Given the description of an element on the screen output the (x, y) to click on. 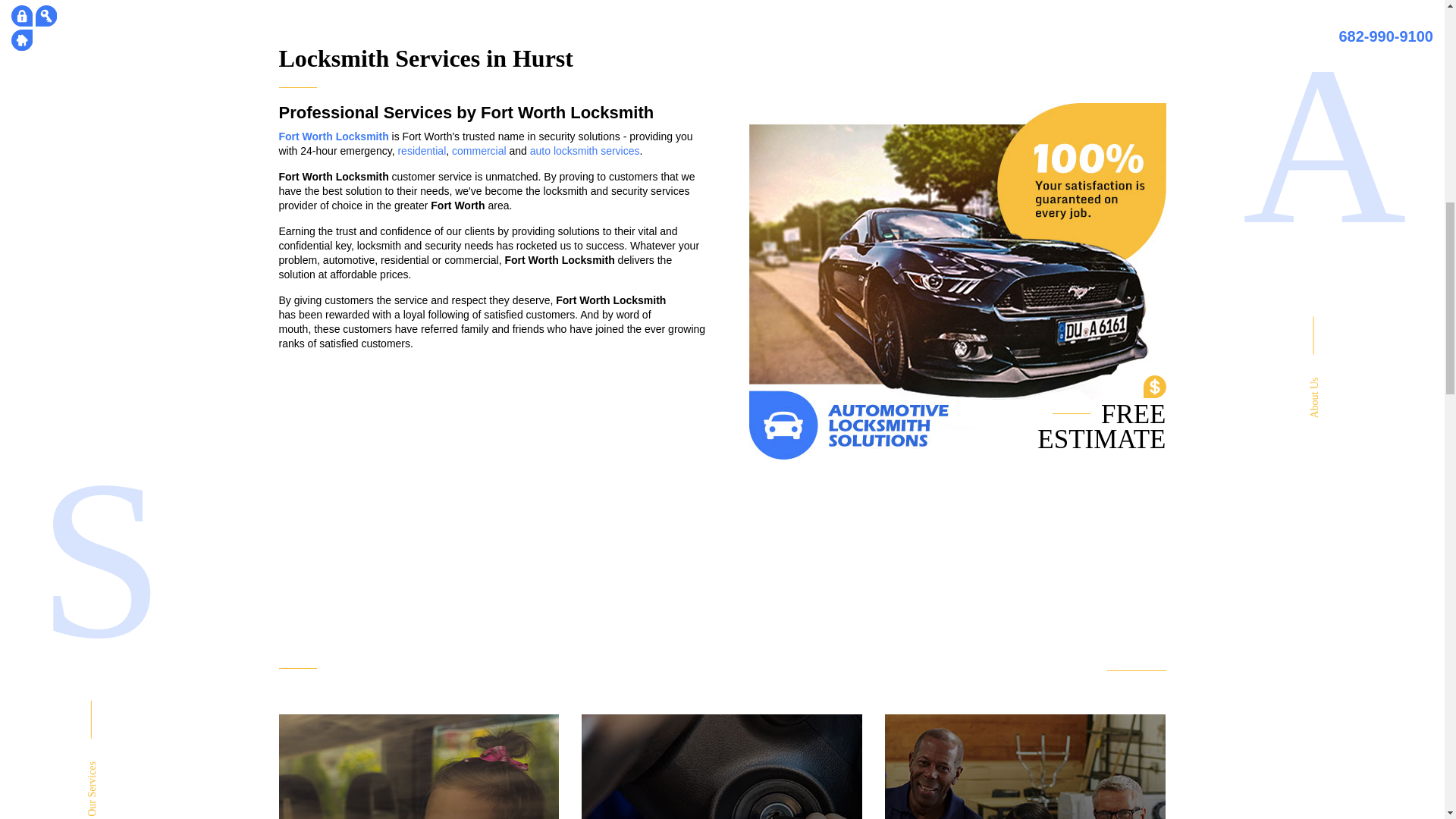
auto locksmith services (584, 150)
FREE ESTIMATE (1123, 659)
Fort Worth Locksmith (333, 136)
Automotive (720, 766)
Locksmith (1025, 766)
commercial (478, 150)
Emergency (419, 766)
Local Locksmith Service Hurst (1025, 766)
residential (421, 150)
